Given the description of an element on the screen output the (x, y) to click on. 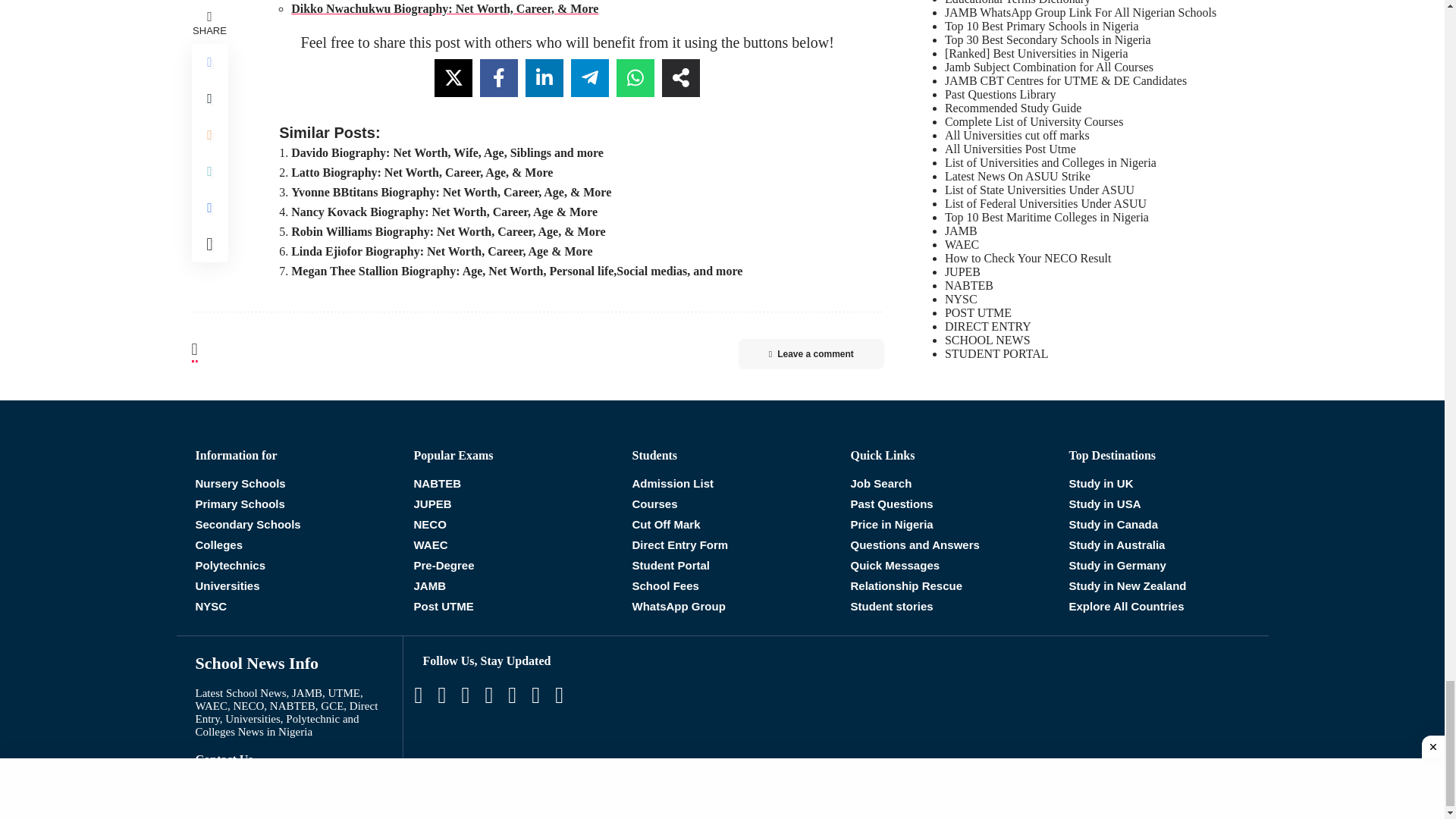
Davido Biography: Net Worth, Wife, Age, Siblings and more (447, 152)
